Given the description of an element on the screen output the (x, y) to click on. 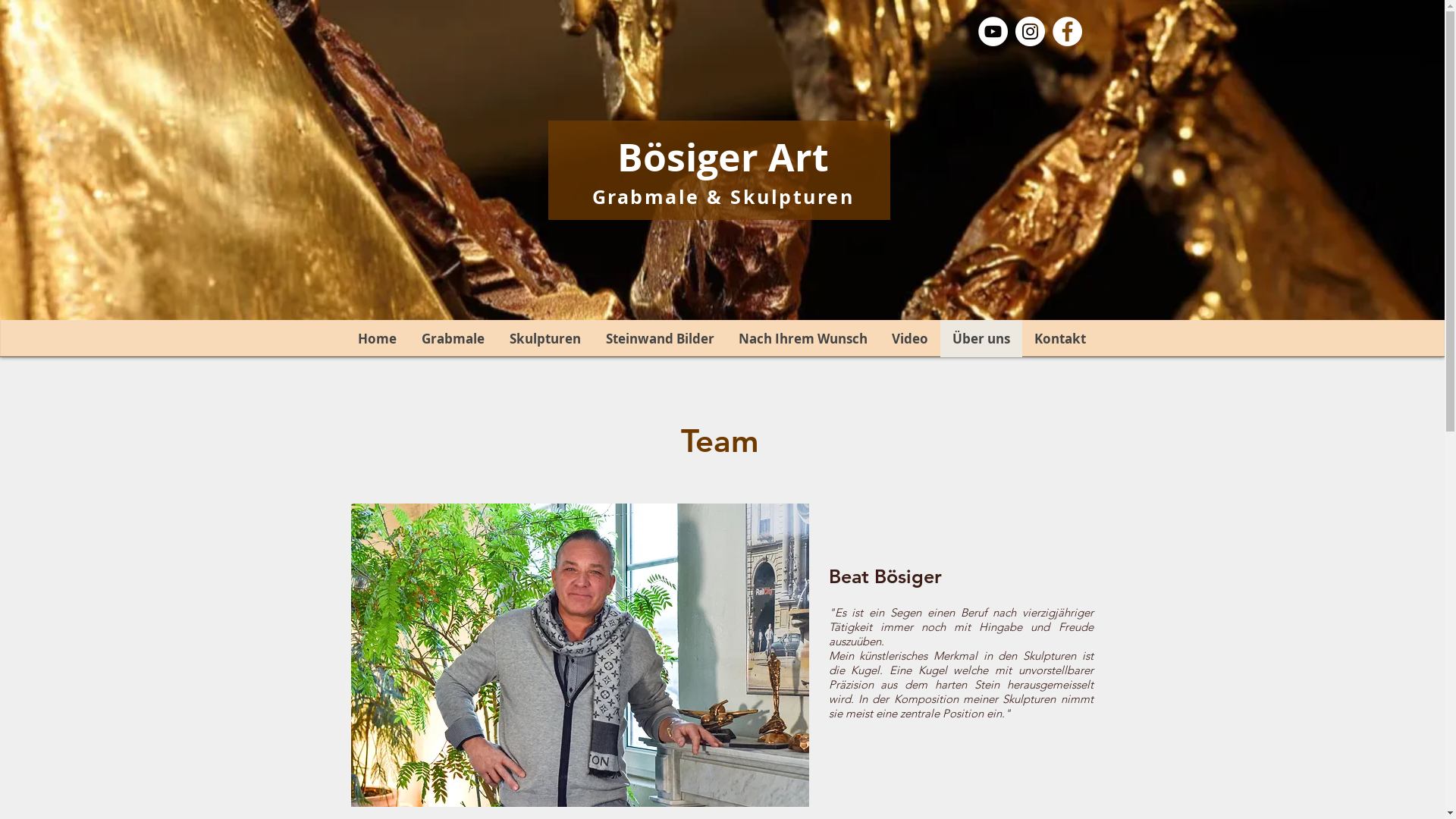
Steinwand Bilder Element type: text (659, 338)
Skulpturen Element type: text (543, 338)
Grabmale Element type: text (451, 338)
Home Element type: text (376, 338)
Video Element type: text (909, 338)
Kontakt Element type: text (1060, 338)
Nach Ihrem Wunsch Element type: text (802, 338)
